Given the description of an element on the screen output the (x, y) to click on. 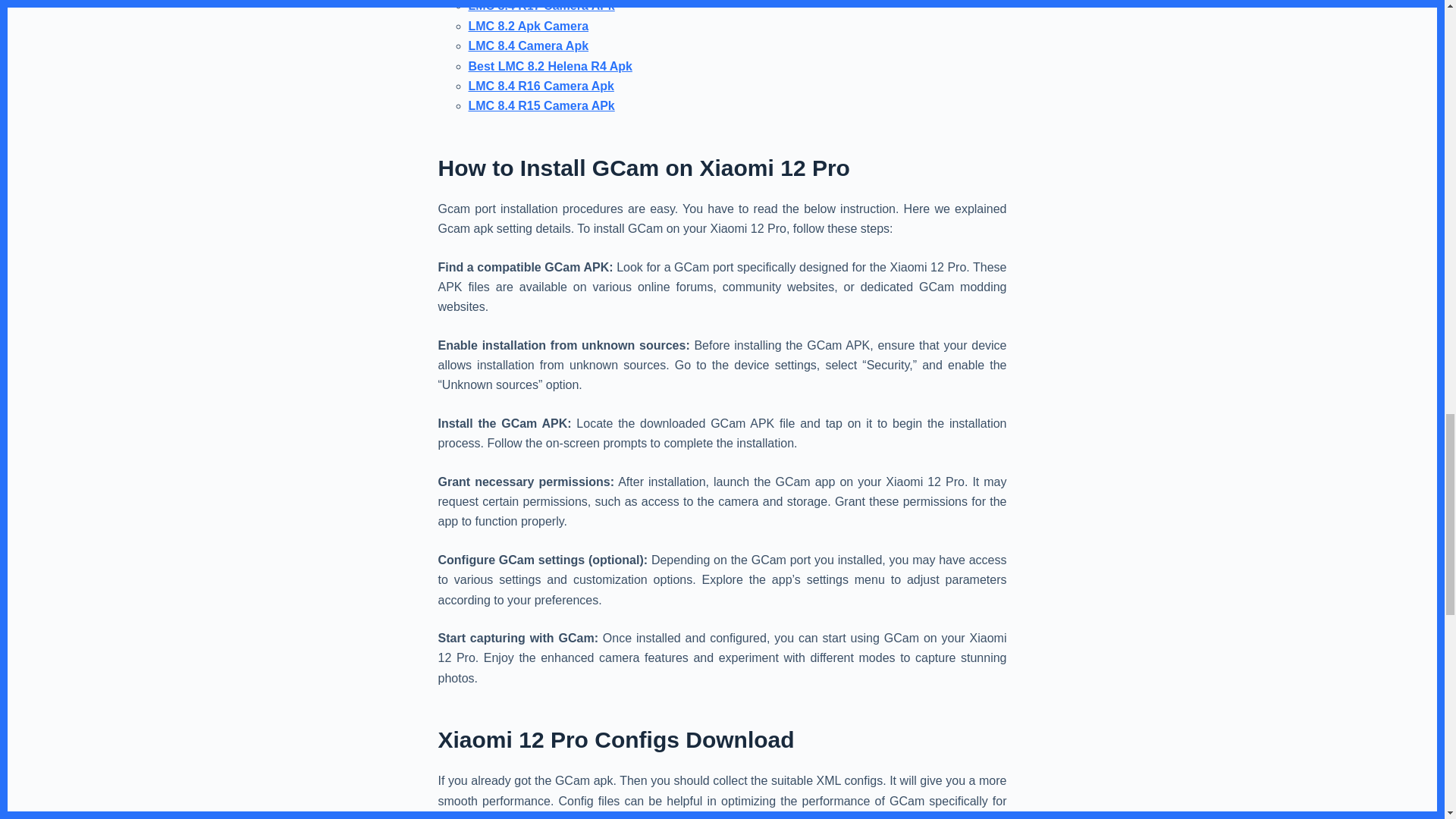
LMC 8.4 R17 Camera APk (541, 6)
LMC 8.4 Camera Apk (528, 45)
LMC 8.2 Apk Camera (528, 25)
LMC 8.4 R16 Camera Apk (541, 85)
Best LMC 8.2 Helena R4 Apk (549, 65)
